Given the description of an element on the screen output the (x, y) to click on. 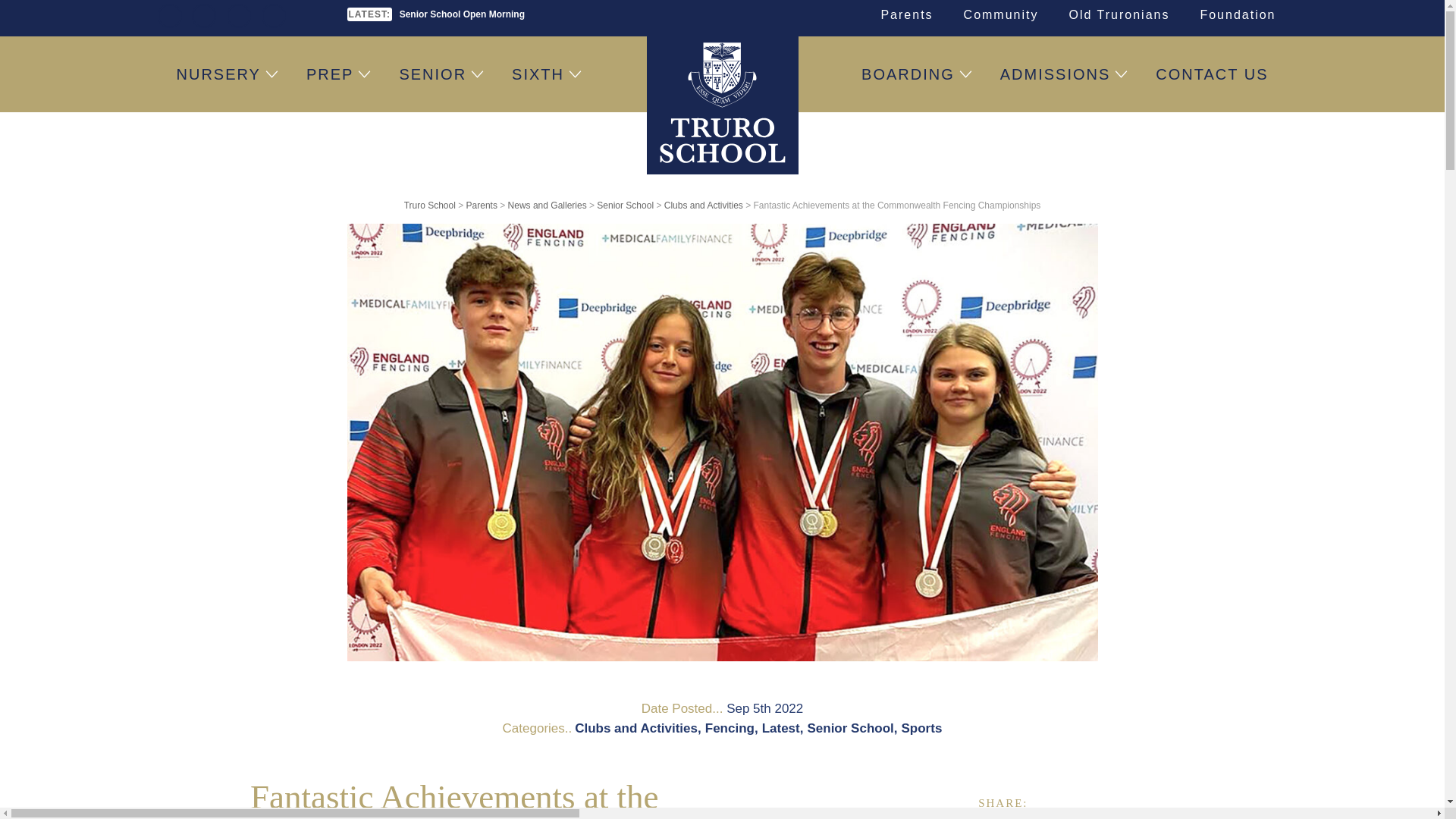
Parents (905, 15)
Community (1001, 15)
YouTube (273, 15)
Parents (905, 15)
Senior School Open Morning (461, 14)
Facebook (169, 15)
Old Truronians (1118, 15)
Twitter (203, 15)
Instagram (238, 15)
Senior School Open Morning (461, 14)
